Given the description of an element on the screen output the (x, y) to click on. 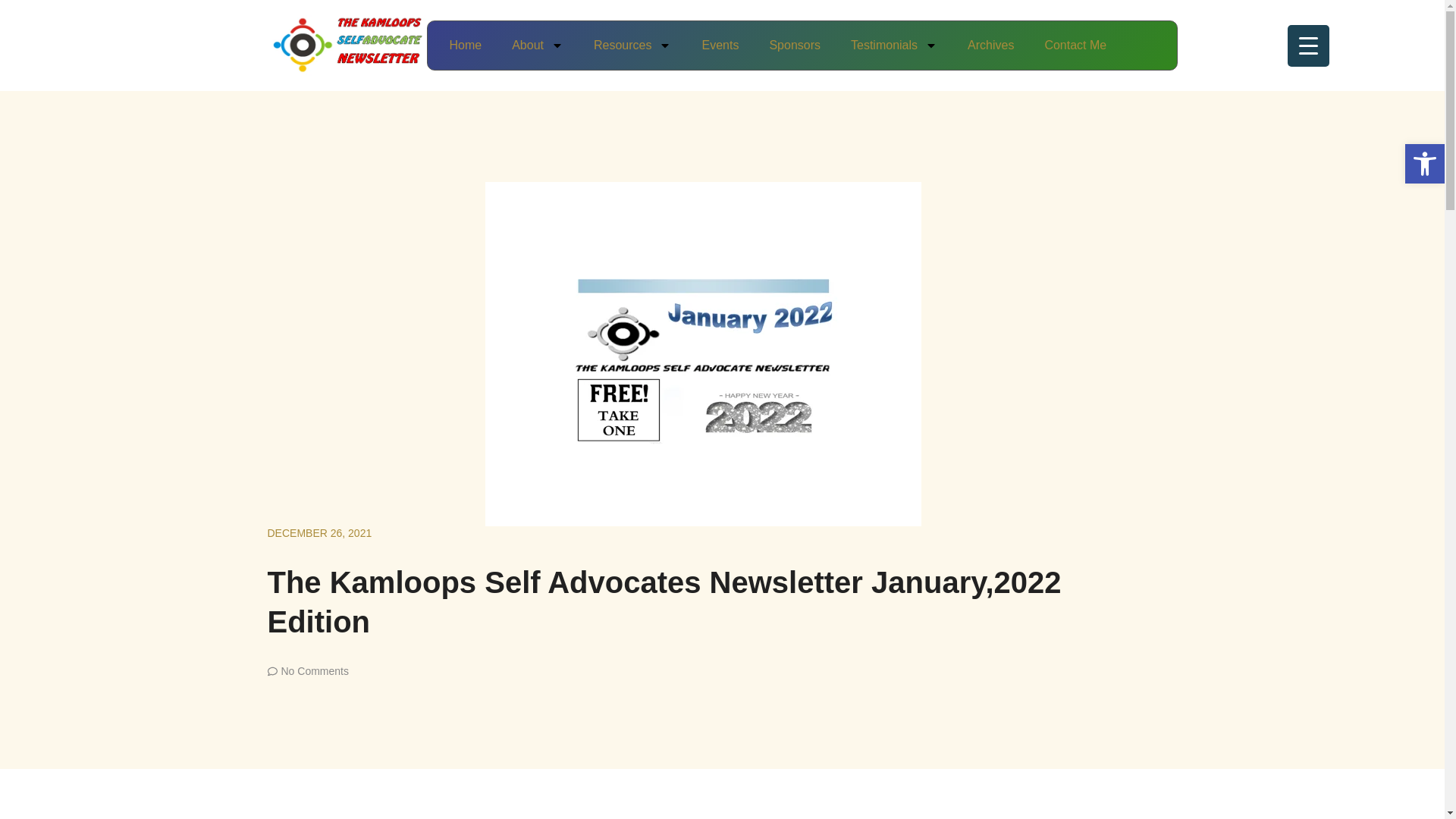
Accessibility Tools (1424, 163)
